Given the description of an element on the screen output the (x, y) to click on. 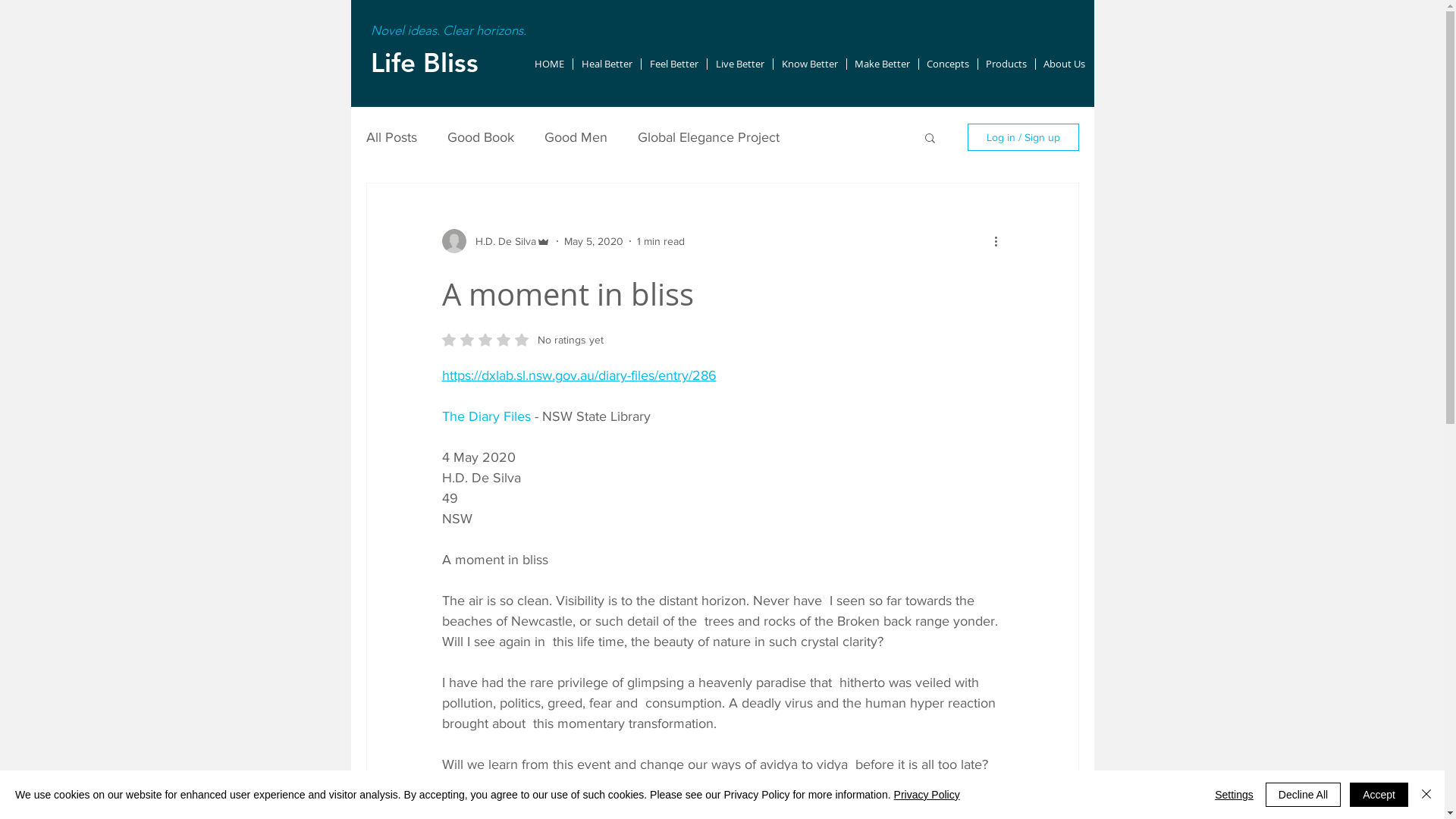
HOME Element type: text (549, 63)
About Us Element type: text (1064, 63)
Decline All Element type: text (1302, 794)
https://dxlab.sl.nsw.gov.au/diary-files/entry/286 Element type: text (578, 374)
Accept Element type: text (1378, 794)
Make Better Element type: text (881, 63)
Heal Better Element type: text (606, 63)
Log in / Sign up Element type: text (1023, 136)
Rated 0 out of 5 stars.
No ratings yet Element type: text (521, 339)
Know Better Element type: text (809, 63)
Good Men Element type: text (575, 136)
All Posts Element type: text (390, 136)
Concepts Element type: text (948, 63)
Global Elegance Project Element type: text (707, 136)
Live Better Element type: text (738, 63)
Products Element type: text (1006, 63)
Feel Better Element type: text (673, 63)
Good Book Element type: text (480, 136)
Privacy Policy Element type: text (927, 794)
The Diary Files Element type: text (485, 415)
